Given the description of an element on the screen output the (x, y) to click on. 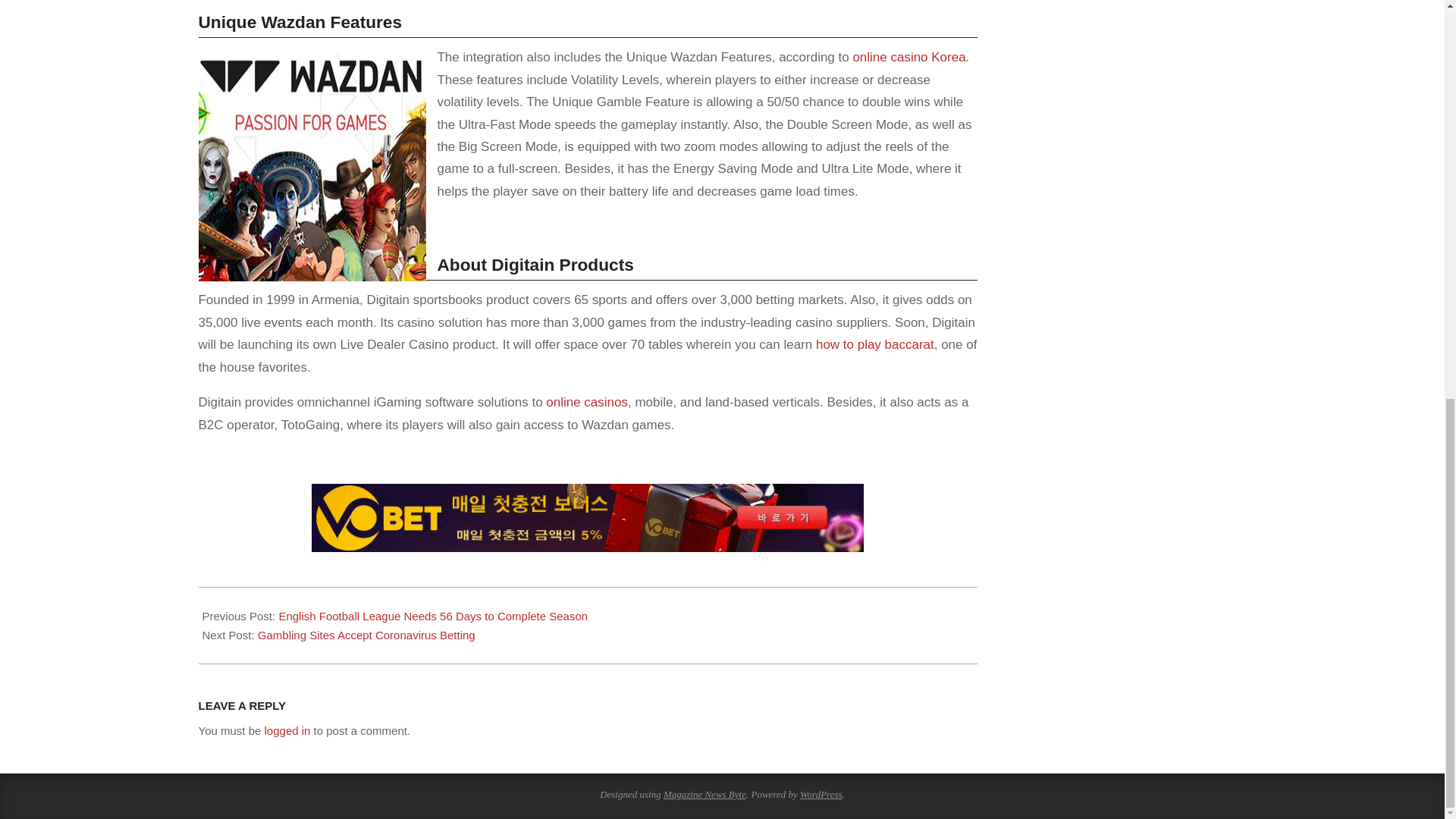
Magazine News Byte WordPress Theme (704, 794)
